Given the description of an element on the screen output the (x, y) to click on. 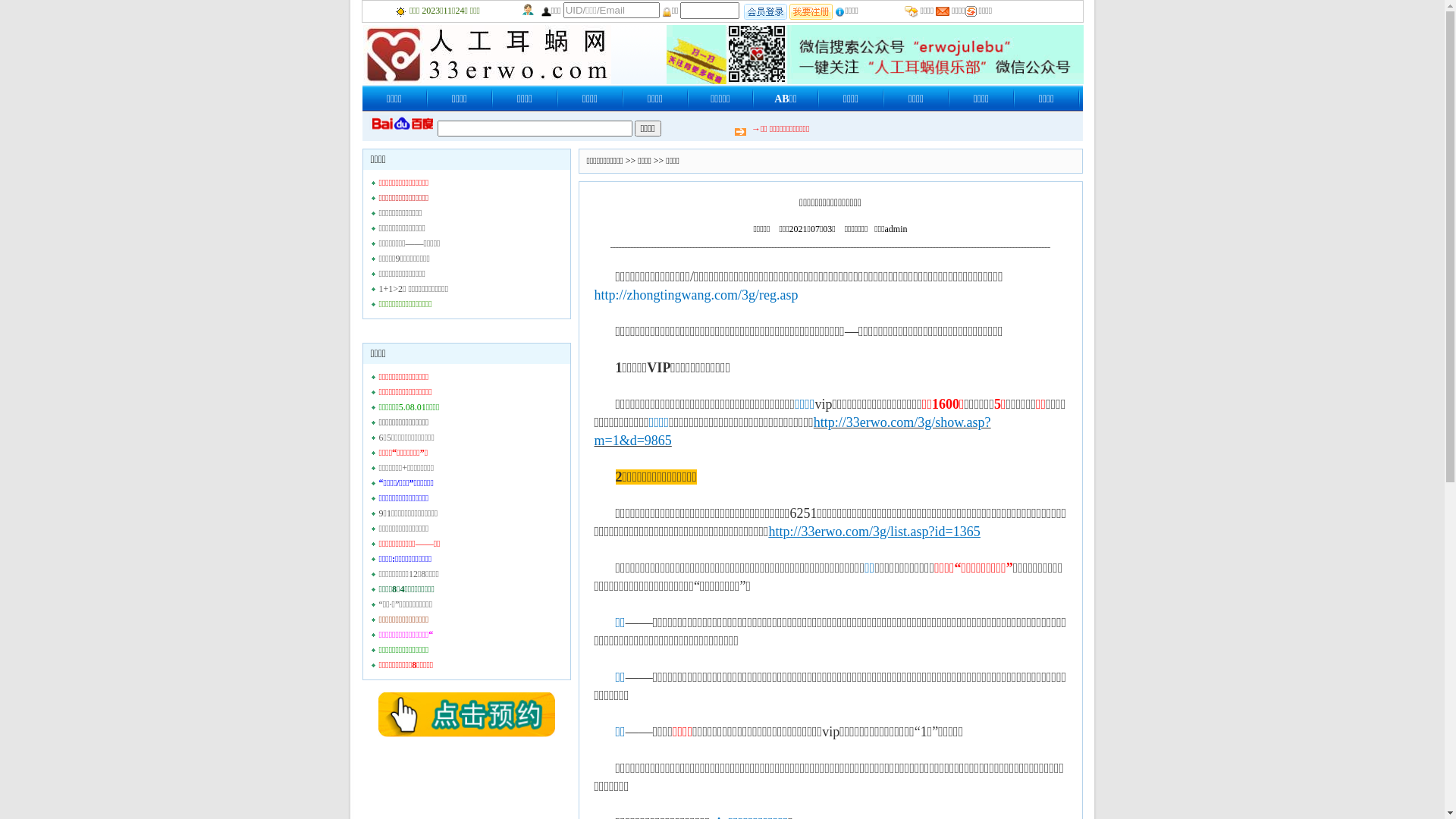
http://33erwo.com/3g/list.asp?id=1365 Element type: text (874, 530)
http://zhongtingwang.com/3g/reg.asp Element type: text (696, 293)
http://33erwo.com/3g/show.asp?m=1&d=9865 Element type: text (792, 430)
